Given the description of an element on the screen output the (x, y) to click on. 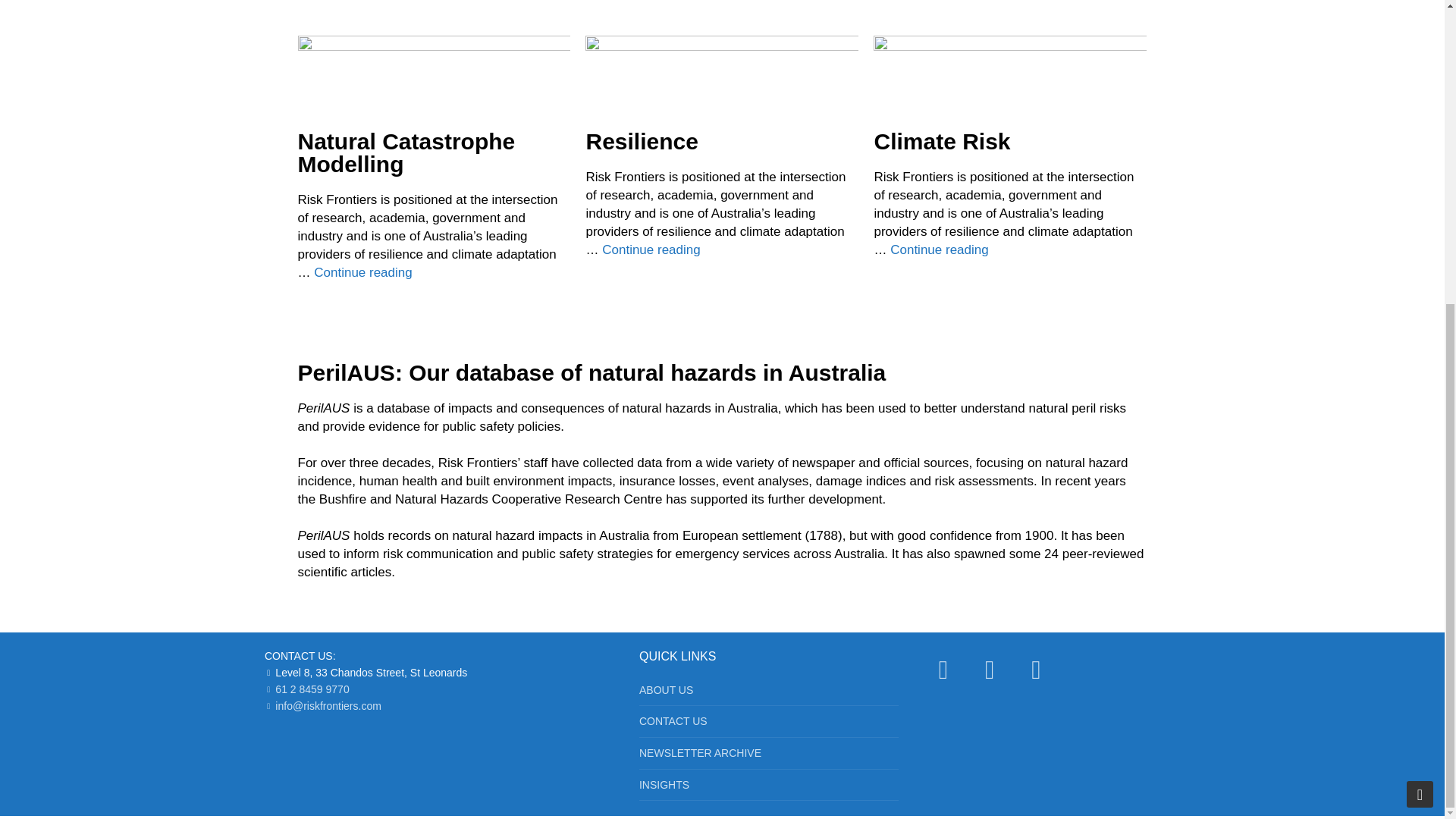
Linkedin (1035, 670)
Facebook (943, 670)
Twitter (989, 670)
